Given the description of an element on the screen output the (x, y) to click on. 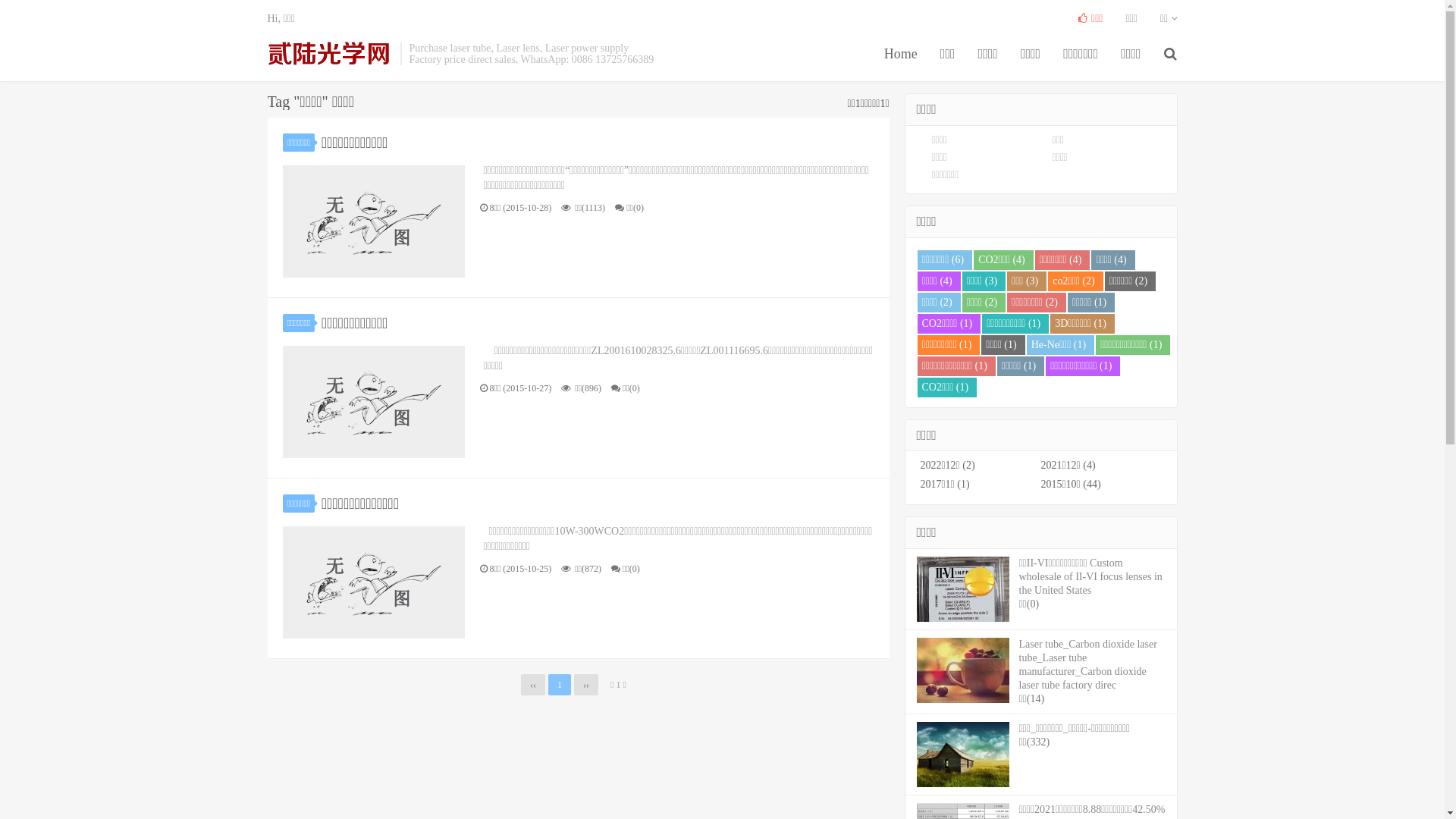
Home Element type: text (900, 53)
